Given the description of an element on the screen output the (x, y) to click on. 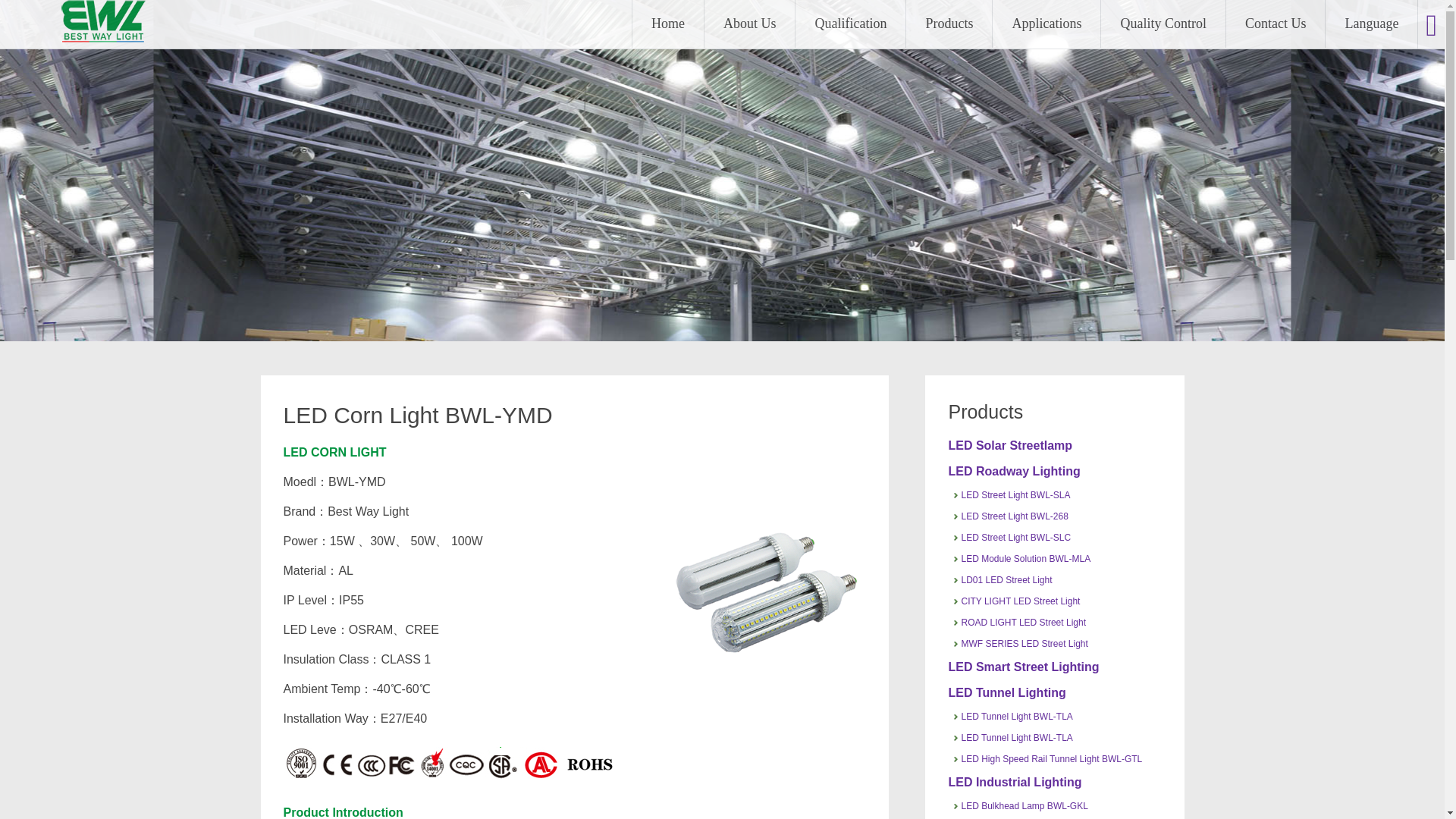
LED Module Solution BWL-MLA (1025, 558)
Language (1370, 23)
Qualification (849, 23)
Home (667, 23)
CITY LIGHT LED Street Light (1020, 601)
LED Smart Street Lighting (1023, 666)
LED Solar Streetlamp (1009, 445)
MWF SERIES LED Street Light (1023, 643)
About Us (749, 23)
Products (948, 23)
LED Street Light BWL-268 (1013, 516)
LED Street Light BWL-SLC (1015, 537)
LED Street Light BWL-SLA (1015, 494)
Contact Us (1274, 23)
LED Roadway Lighting (1013, 471)
